Given the description of an element on the screen output the (x, y) to click on. 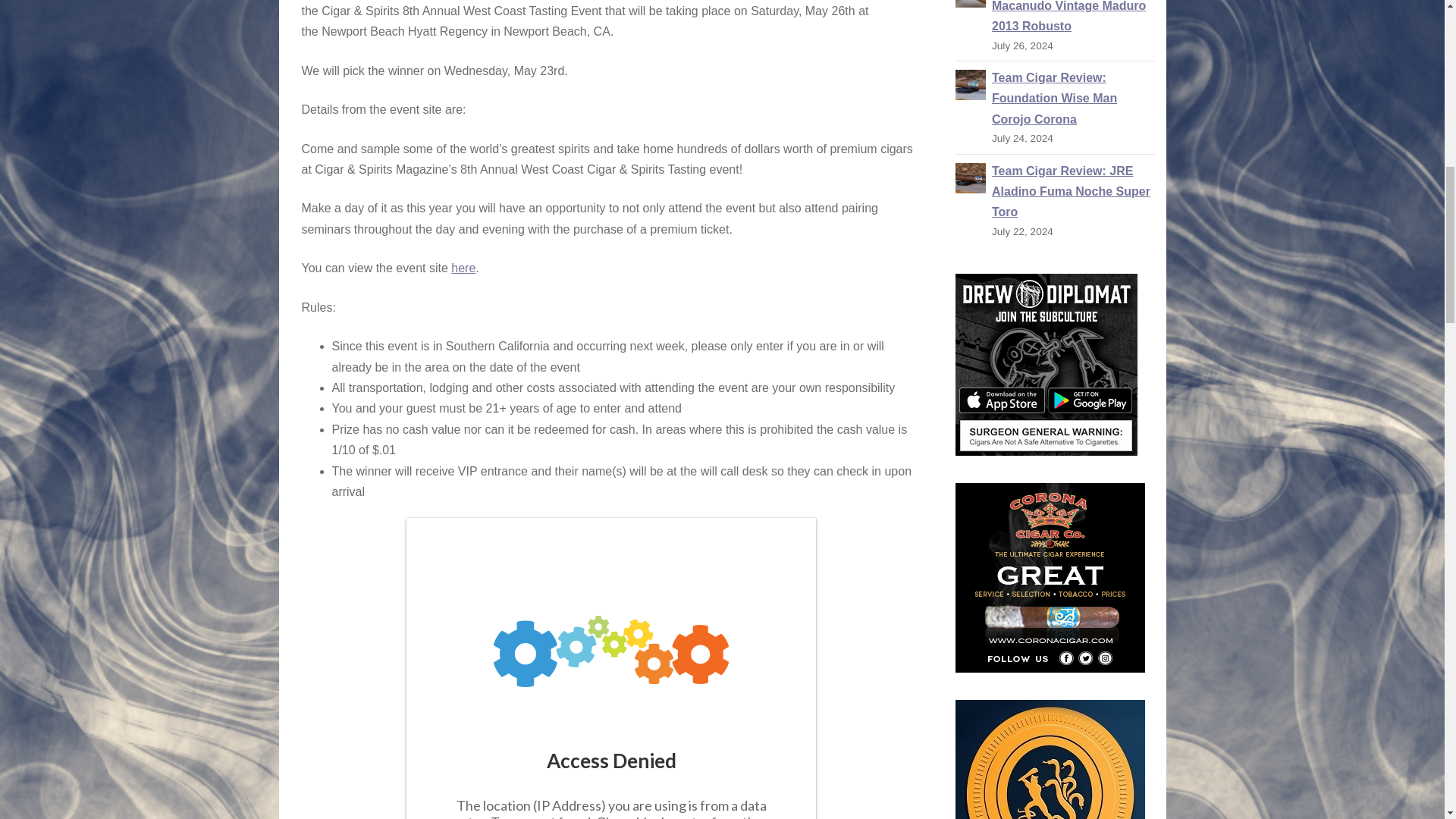
Team Cigar Review: Foundation Wise Man Corojo Corona (1053, 98)
Competition (610, 668)
Team Cigar Review: JRE Aladino Fuma Noche Super Toro (970, 176)
Team Cigar Review: JRE Aladino Fuma Noche Super Toro (1070, 191)
Personal Cigar Review: Macanudo Vintage Maduro 2013 Robusto (1068, 16)
Team Cigar Review: Foundation Wise Man Corojo Corona (970, 83)
